Given the description of an element on the screen output the (x, y) to click on. 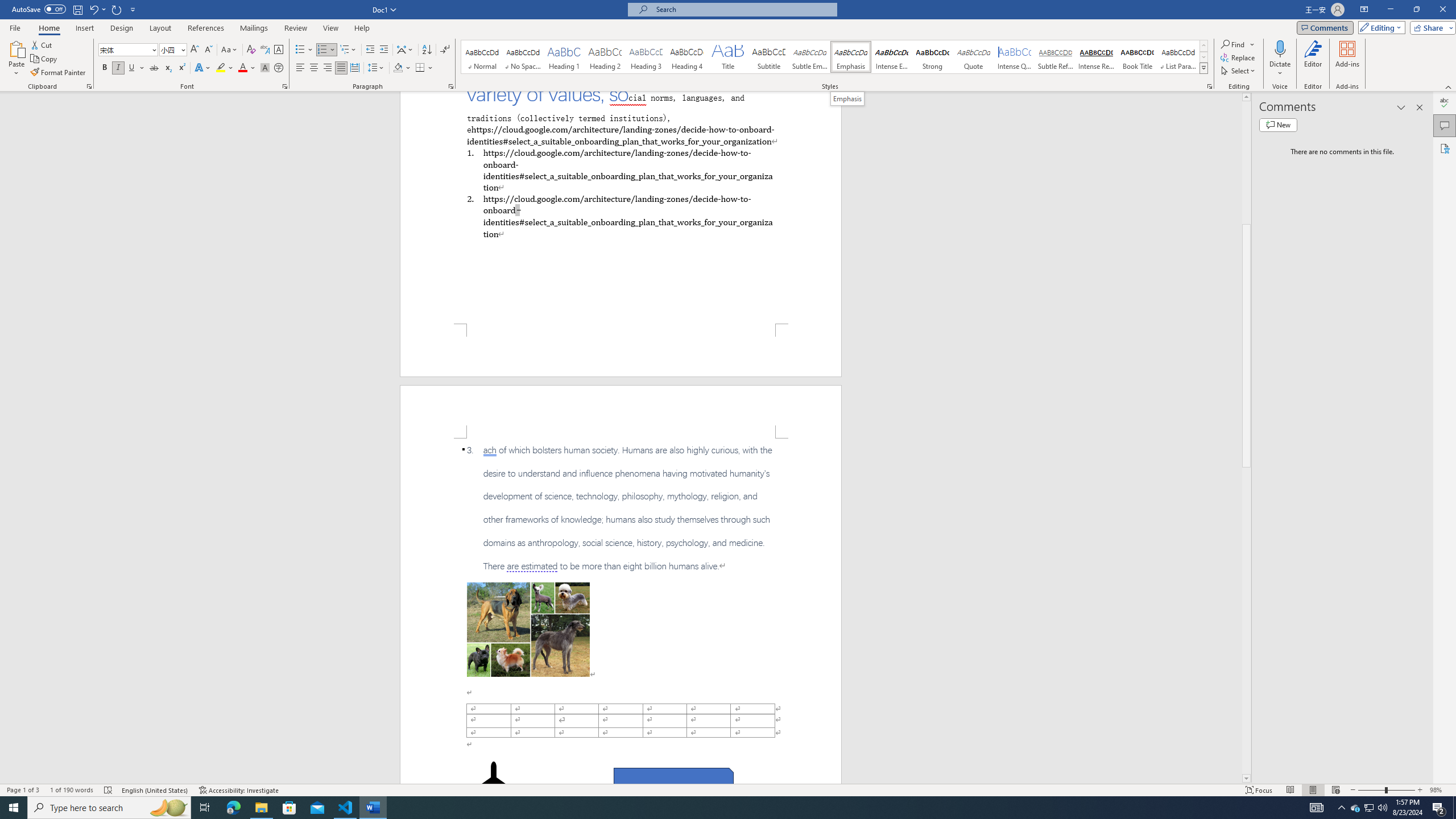
New comment (1278, 124)
Subtitle (768, 56)
Undo Apply Quick Style (96, 9)
Emphasis (849, 56)
Title (727, 56)
